Given the description of an element on the screen output the (x, y) to click on. 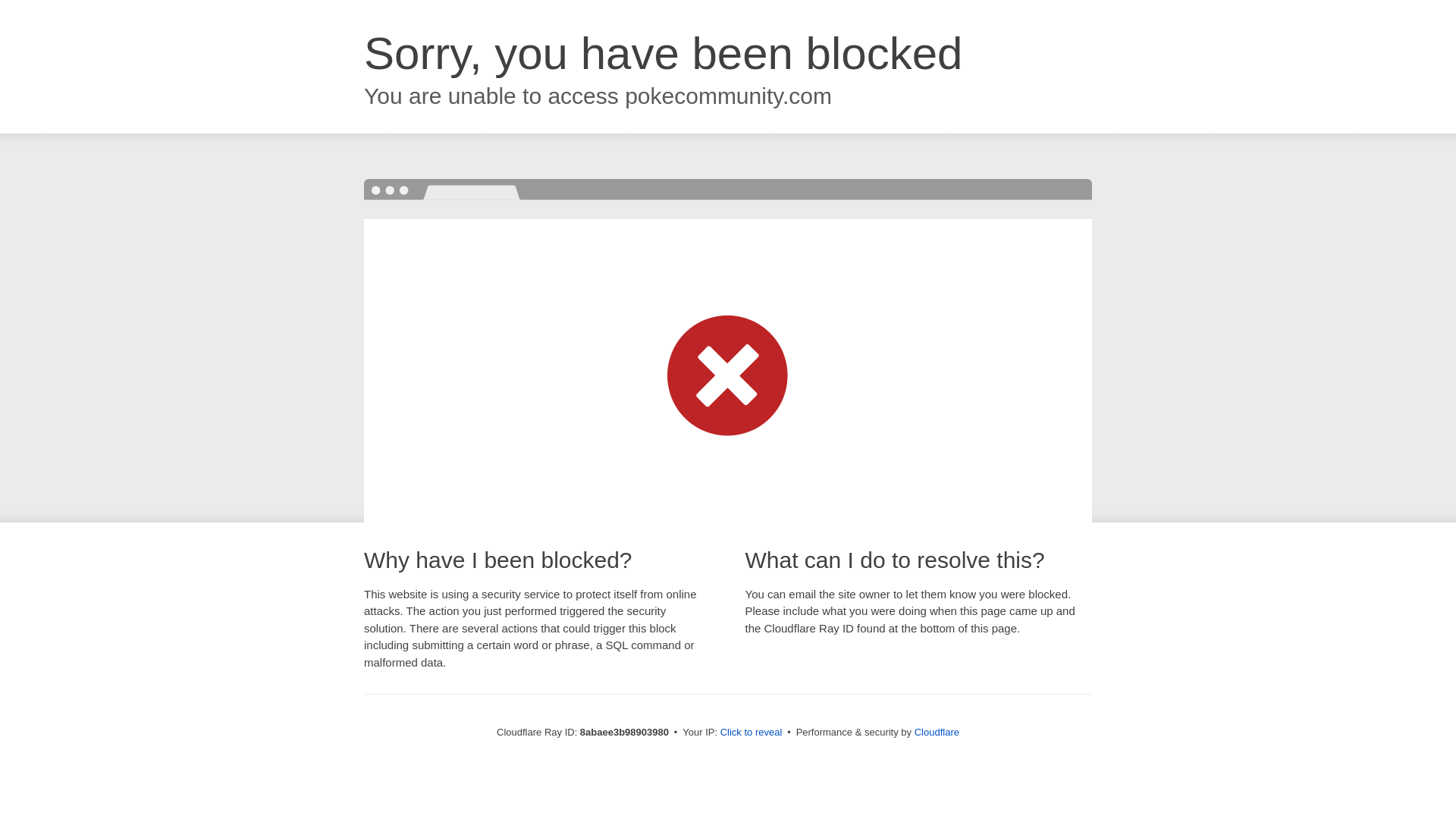
Click to reveal (751, 732)
Cloudflare (936, 731)
